Given the description of an element on the screen output the (x, y) to click on. 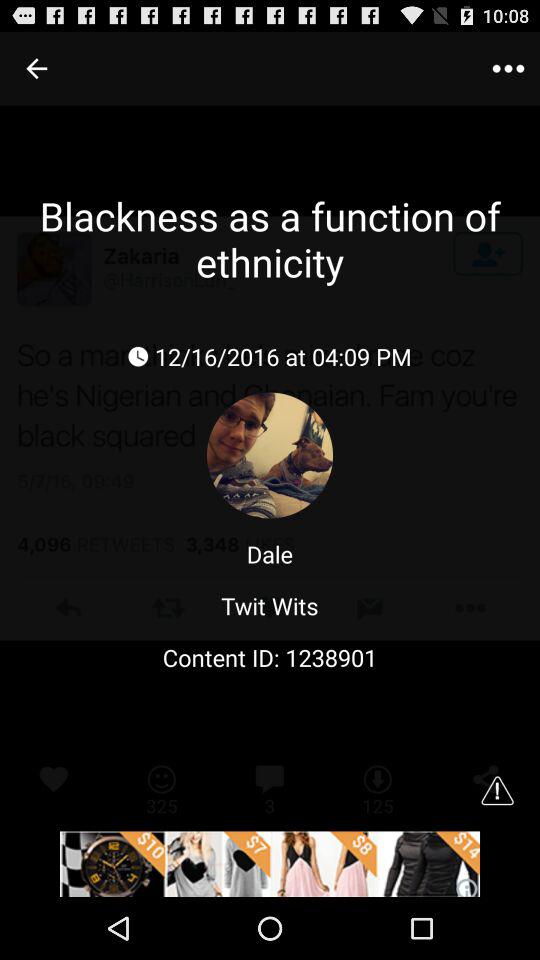
click warning icon (498, 790)
click on menu button (508, 68)
select the option which says dale (269, 553)
